Given the description of an element on the screen output the (x, y) to click on. 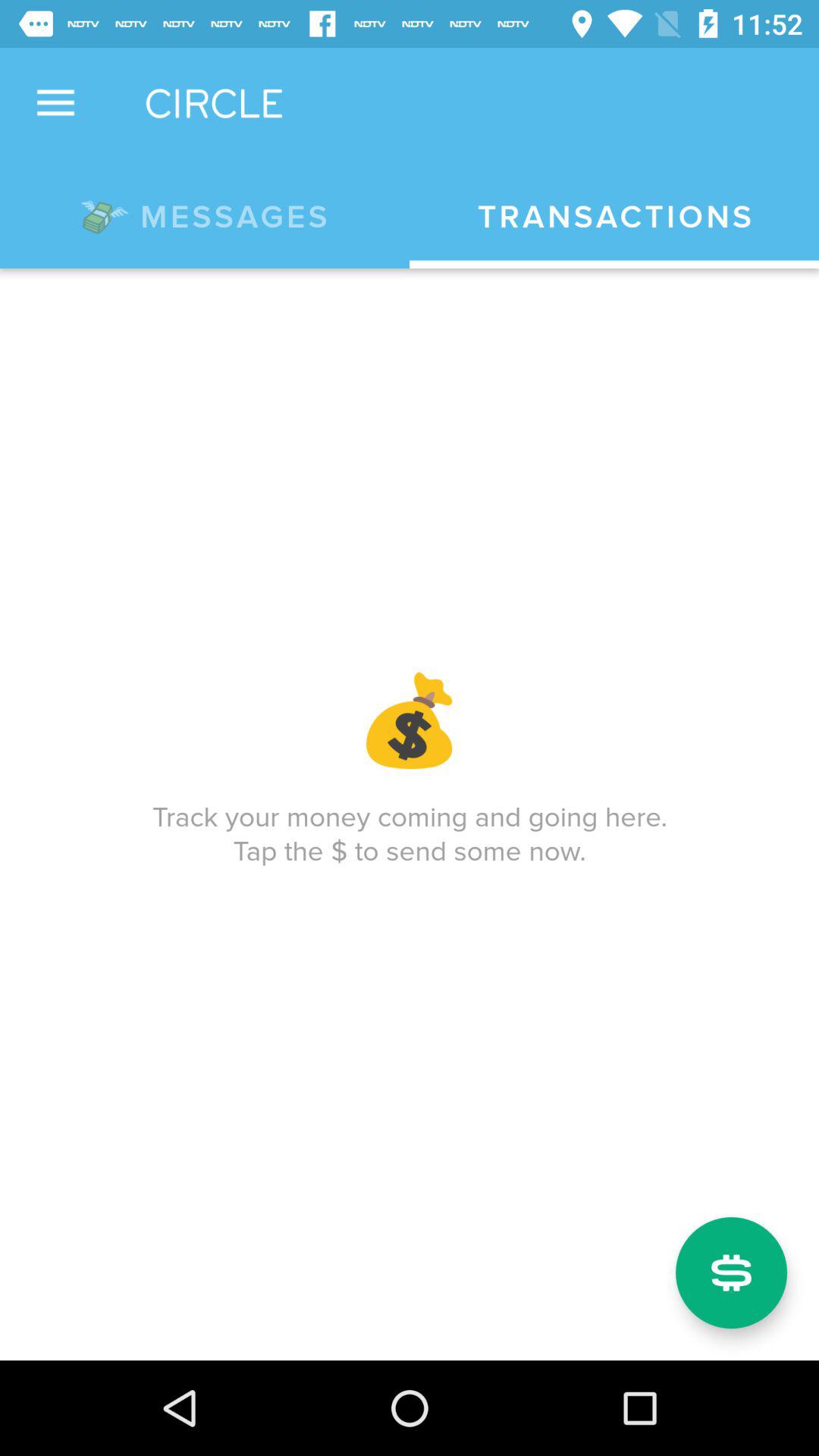
turn off the item to the right of *messages app (614, 217)
